Given the description of an element on the screen output the (x, y) to click on. 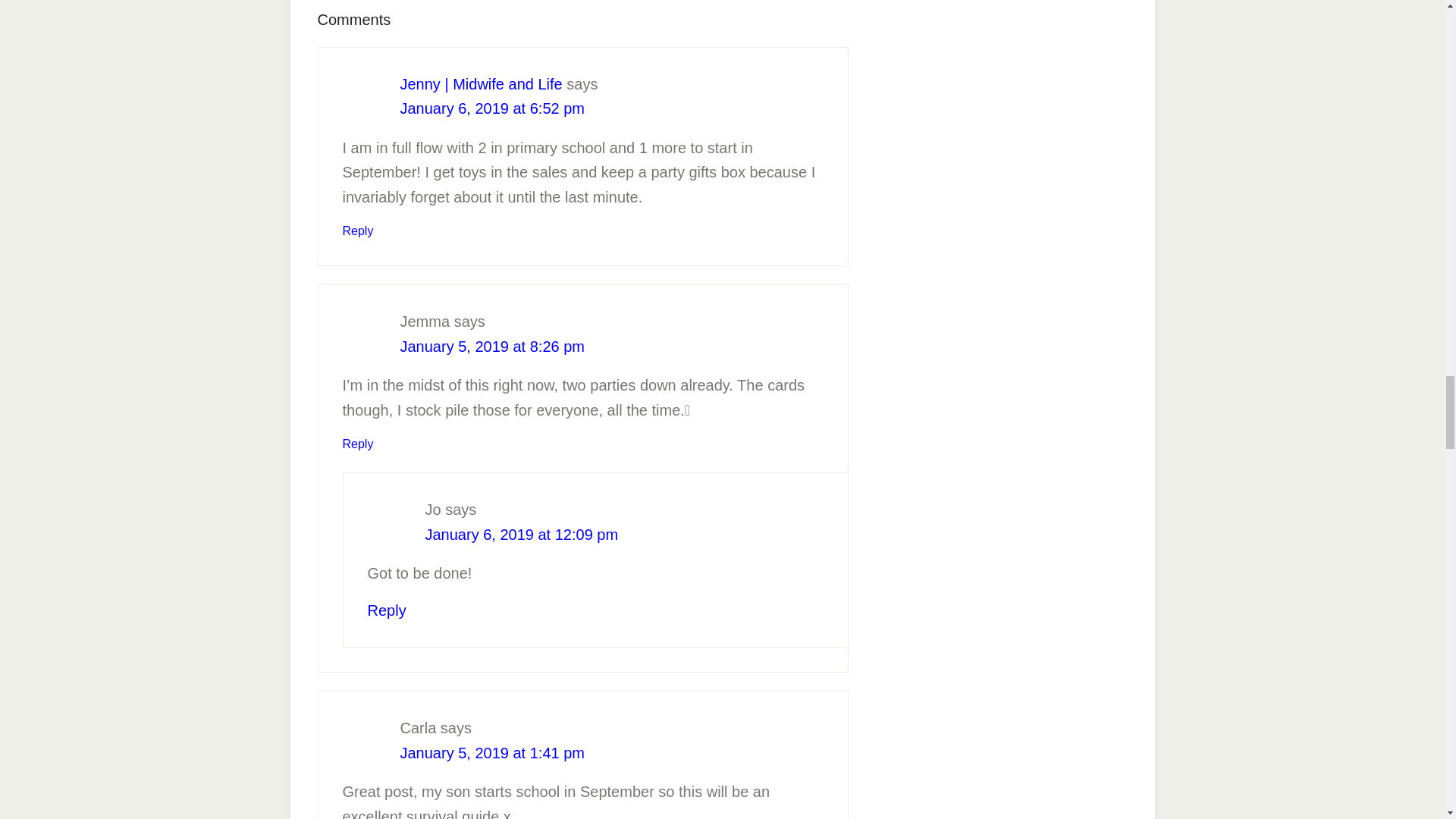
Reply (358, 230)
January 5, 2019 at 1:41 pm (492, 752)
Reply (386, 610)
January 6, 2019 at 6:52 pm (492, 108)
Reply (358, 443)
January 5, 2019 at 8:26 pm (492, 346)
January 6, 2019 at 12:09 pm (521, 534)
